Given the description of an element on the screen output the (x, y) to click on. 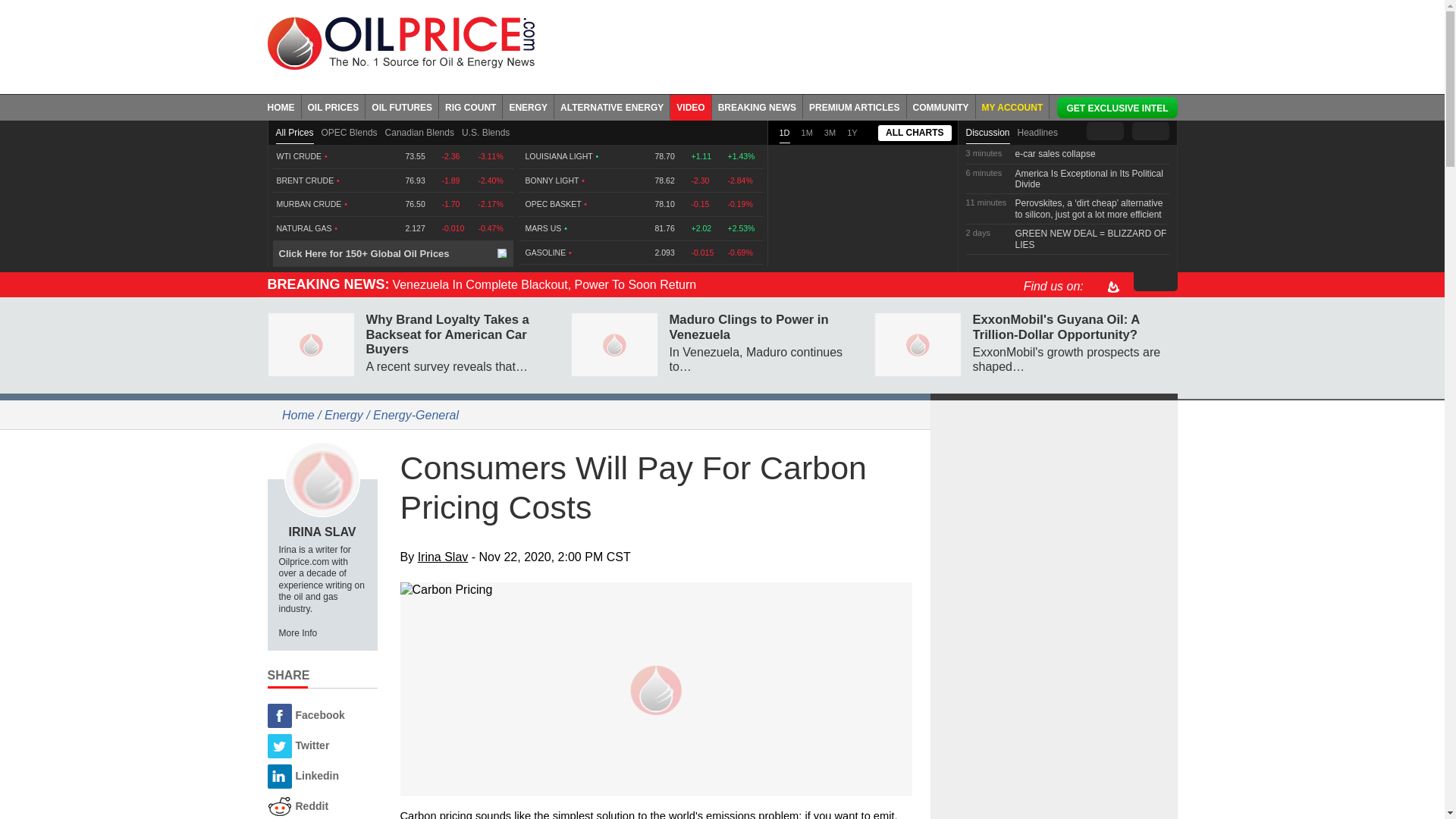
HOME (283, 106)
Oil prices - Oilprice.com (400, 42)
BREAKING NEWS (757, 106)
Carbon Pricing (656, 589)
COMMUNITY (941, 106)
OIL PRICES (333, 106)
Irina Slav (321, 478)
VIDEO (690, 106)
MY ACCOUNT (1012, 106)
PREMIUM ARTICLES (855, 106)
